Given the description of an element on the screen output the (x, y) to click on. 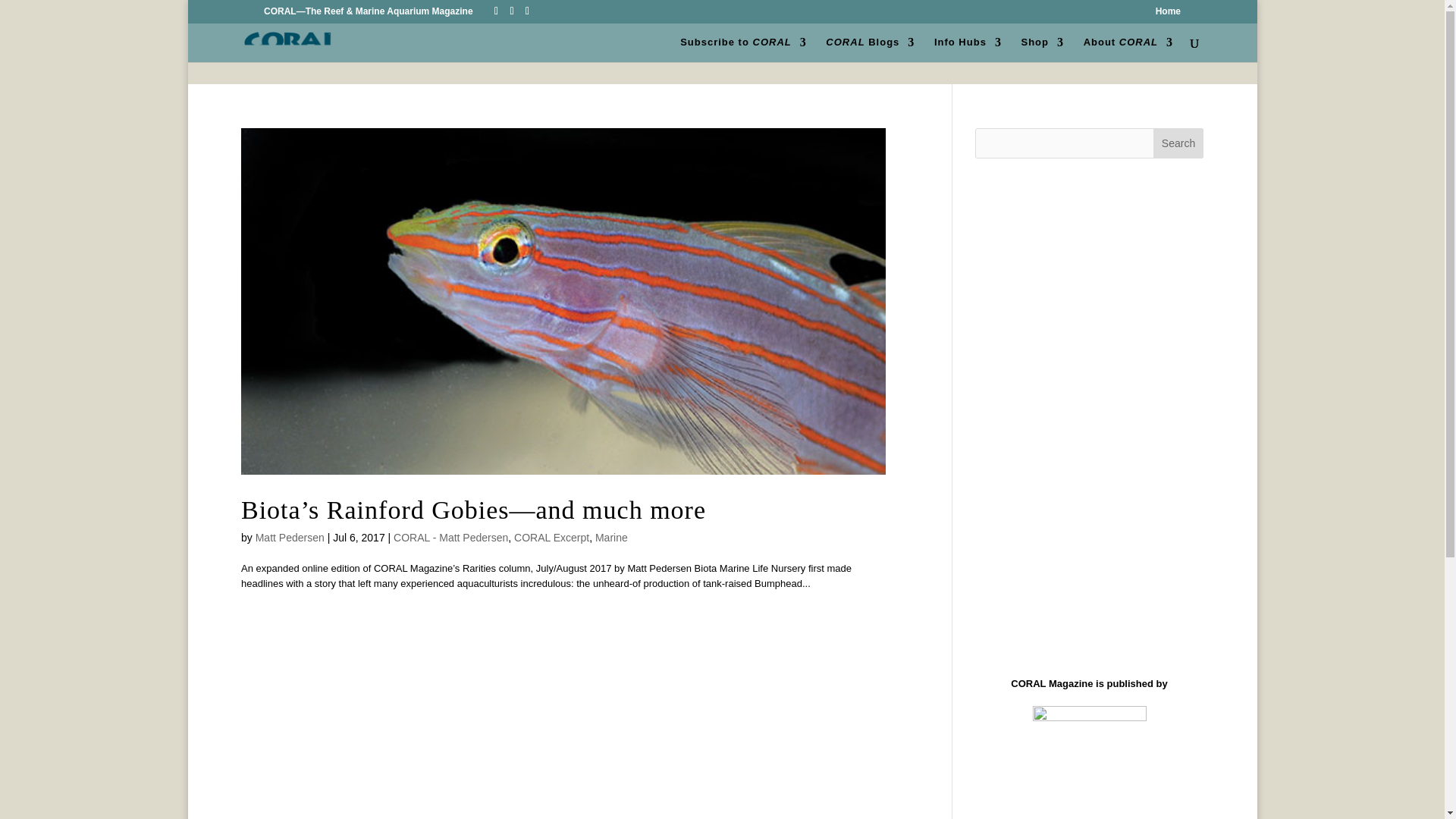
Info Hubs (967, 49)
Home (1168, 14)
CORAL Blogs (869, 49)
Subscribe to CORAL Magazine (742, 49)
Learn more about CORAL Magazine (1128, 49)
Subscribe to CORAL (742, 49)
Visit our online store for CORAL Magazine (1042, 49)
